Given the description of an element on the screen output the (x, y) to click on. 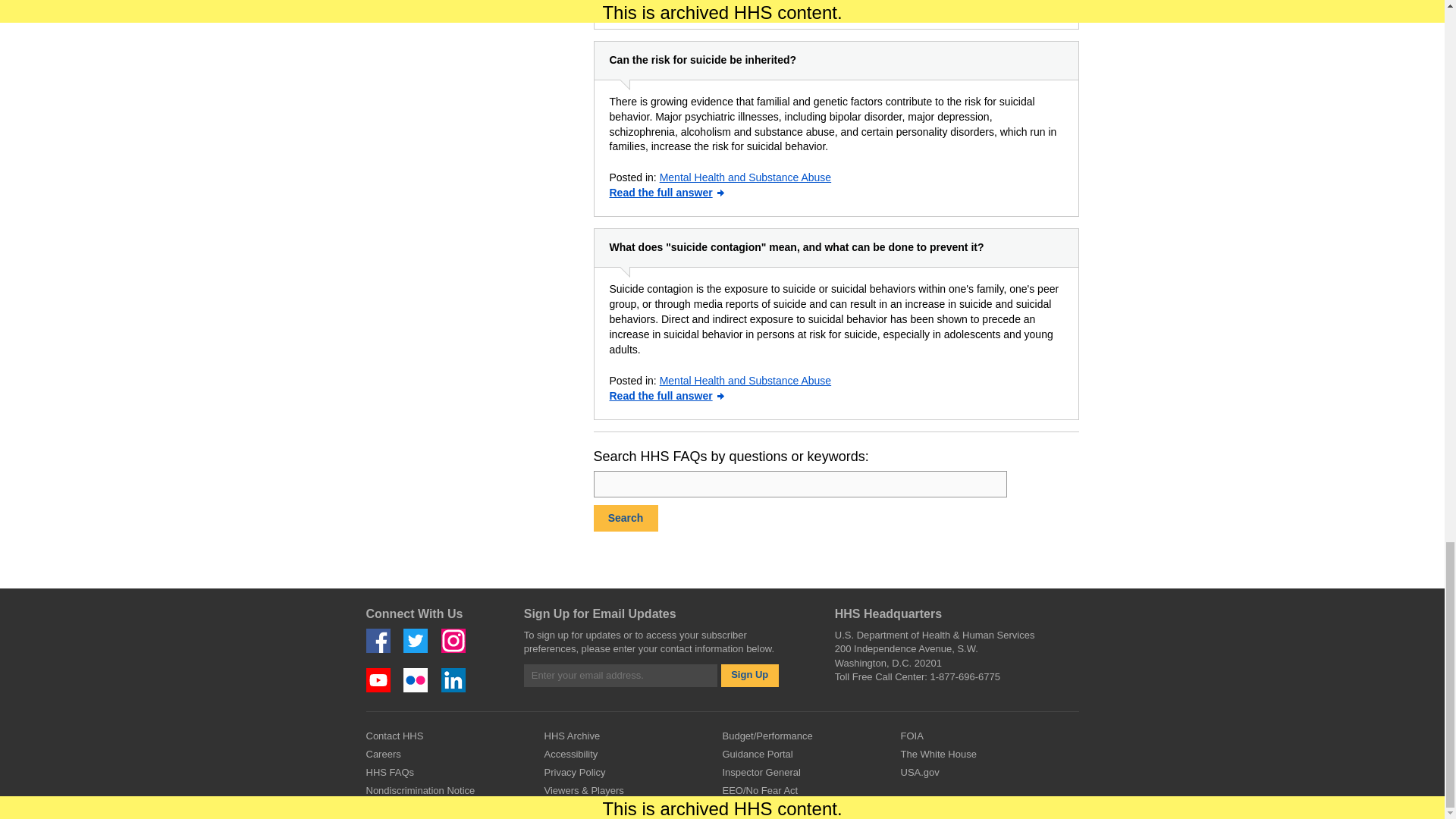
Search (625, 518)
Visit the HHS LinkedIn account (453, 680)
Sign Up (749, 675)
Visit the HHS YouTube account (377, 680)
Visit the HHS Flickr account (415, 680)
Visit the HHS Twitter account (415, 640)
Visit the HHS Instagram account (453, 640)
Search Text (799, 483)
Visit the HHS Facebook account (377, 640)
